Given the description of an element on the screen output the (x, y) to click on. 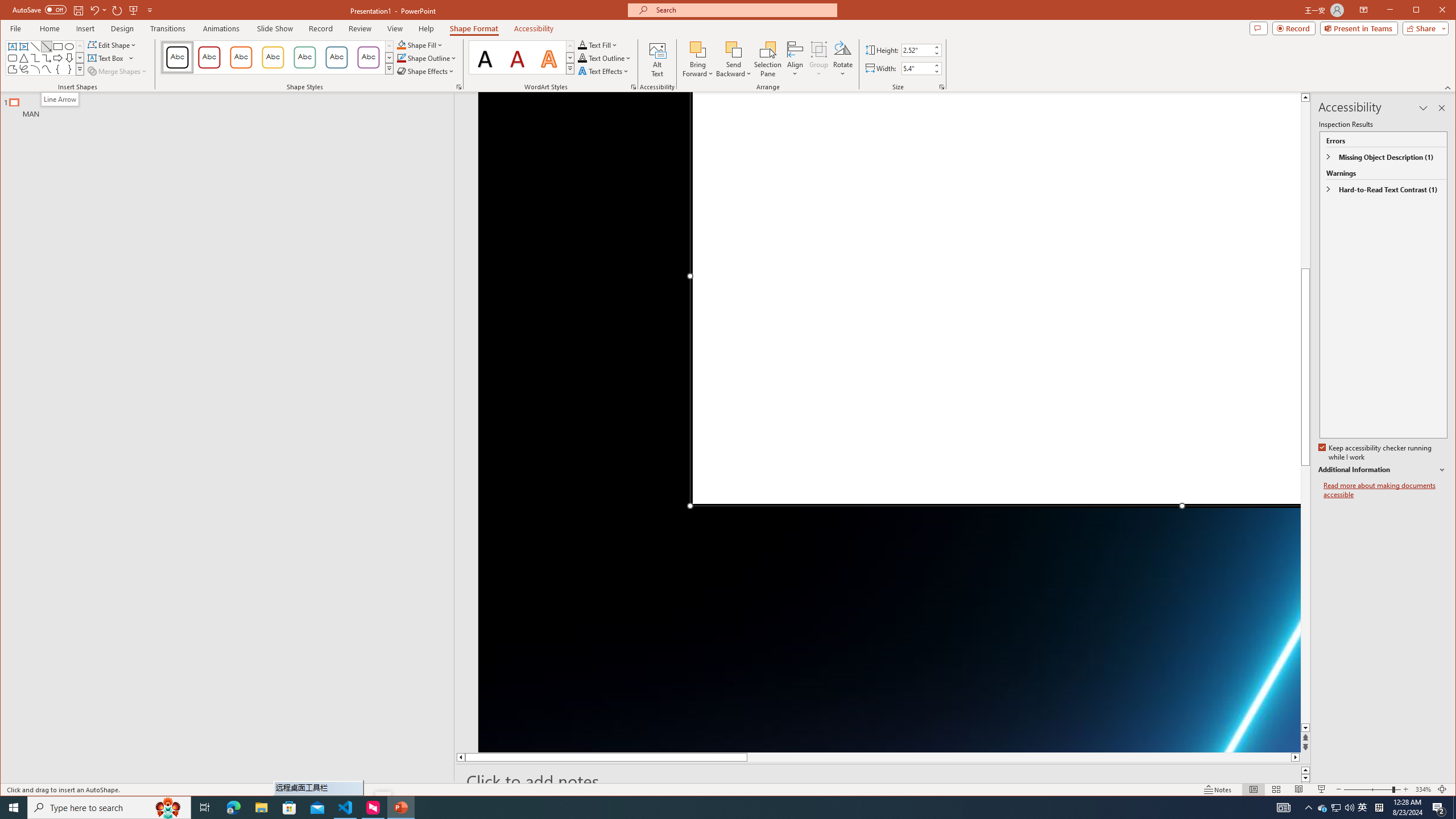
Neon laser lights aligned to form a triangle (889, 421)
AutomationID: ShapeStylesGallery (277, 57)
Bring Forward (697, 59)
Colored Outline - Orange, Accent 2 (241, 57)
Merge Shapes (118, 70)
Fill: Black, Text color 1; Shadow (486, 57)
